Given the description of an element on the screen output the (x, y) to click on. 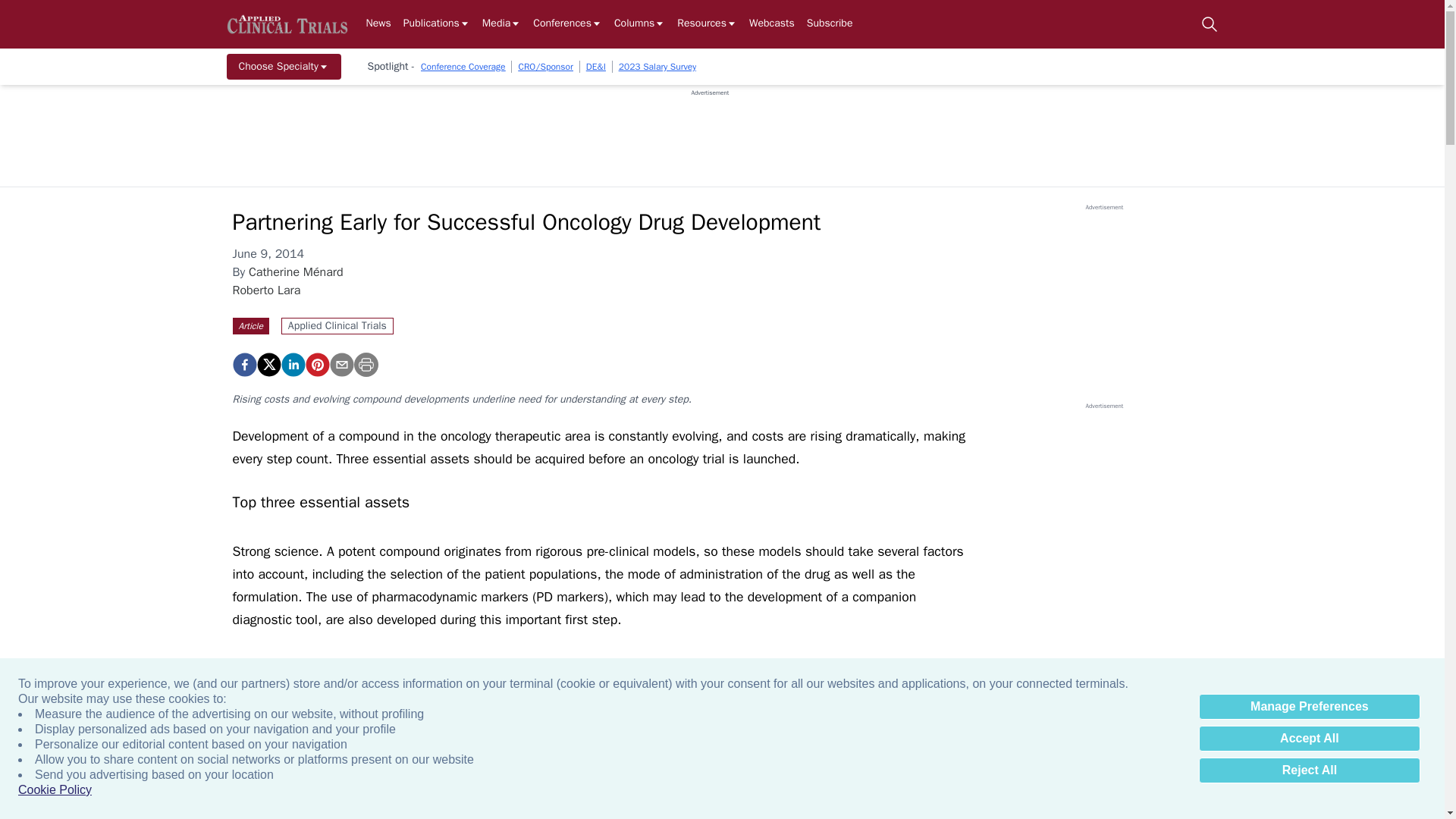
Resources (706, 23)
Cookie Policy (54, 789)
Media (501, 23)
Reject All (1309, 769)
Columns (639, 23)
News (377, 23)
Conferences (567, 23)
Webcasts (771, 23)
Partnering Early for Successful Oncology Drug Development (316, 364)
3rd party ad content (709, 131)
Subscribe (829, 23)
Accept All (1309, 738)
Manage Preferences (1309, 706)
Publications (436, 23)
Partnering Early for Successful Oncology Drug Development (243, 364)
